Given the description of an element on the screen output the (x, y) to click on. 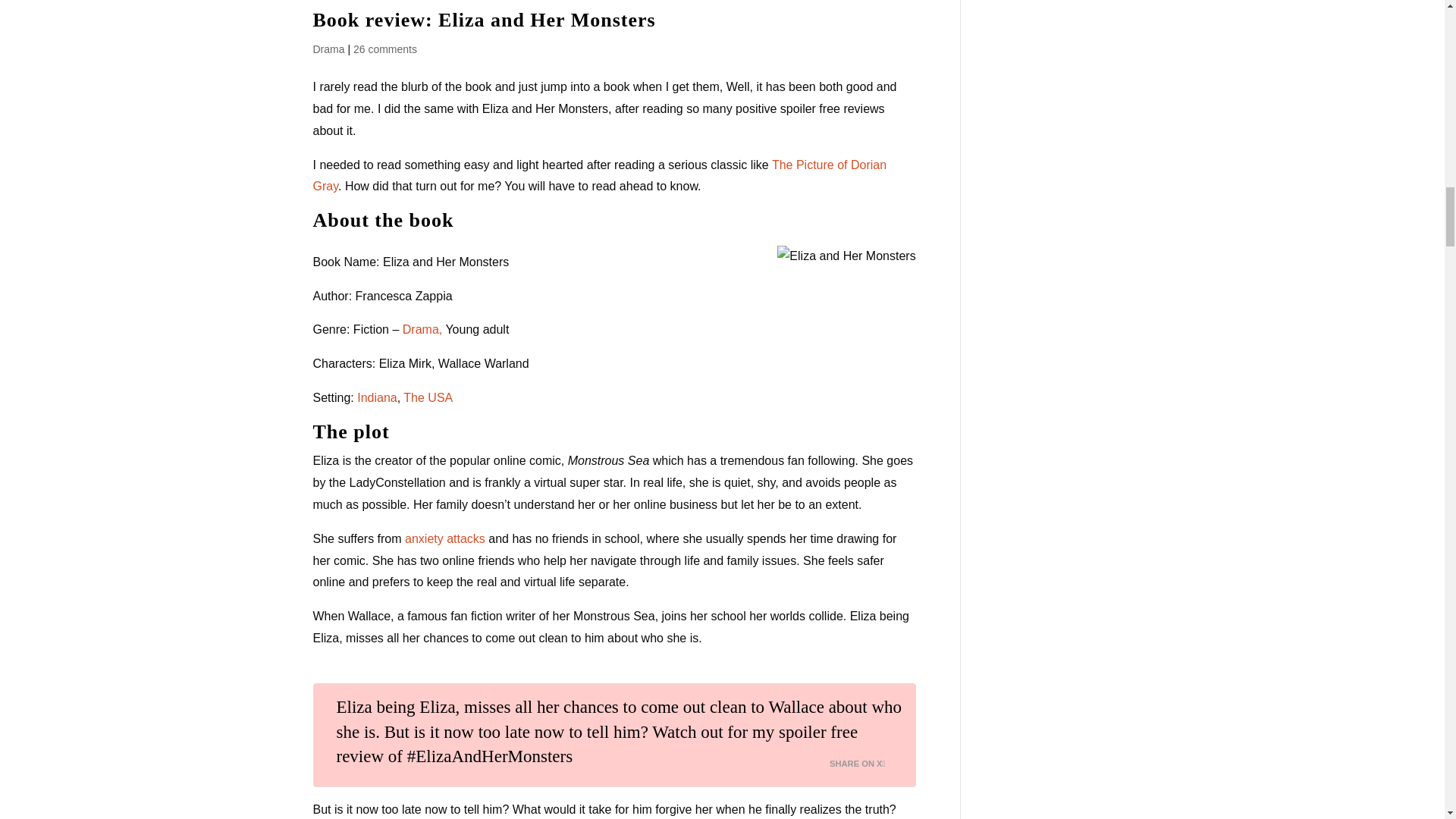
Book review: Eliza and Her Monsters 5 (846, 256)
